Given the description of an element on the screen output the (x, y) to click on. 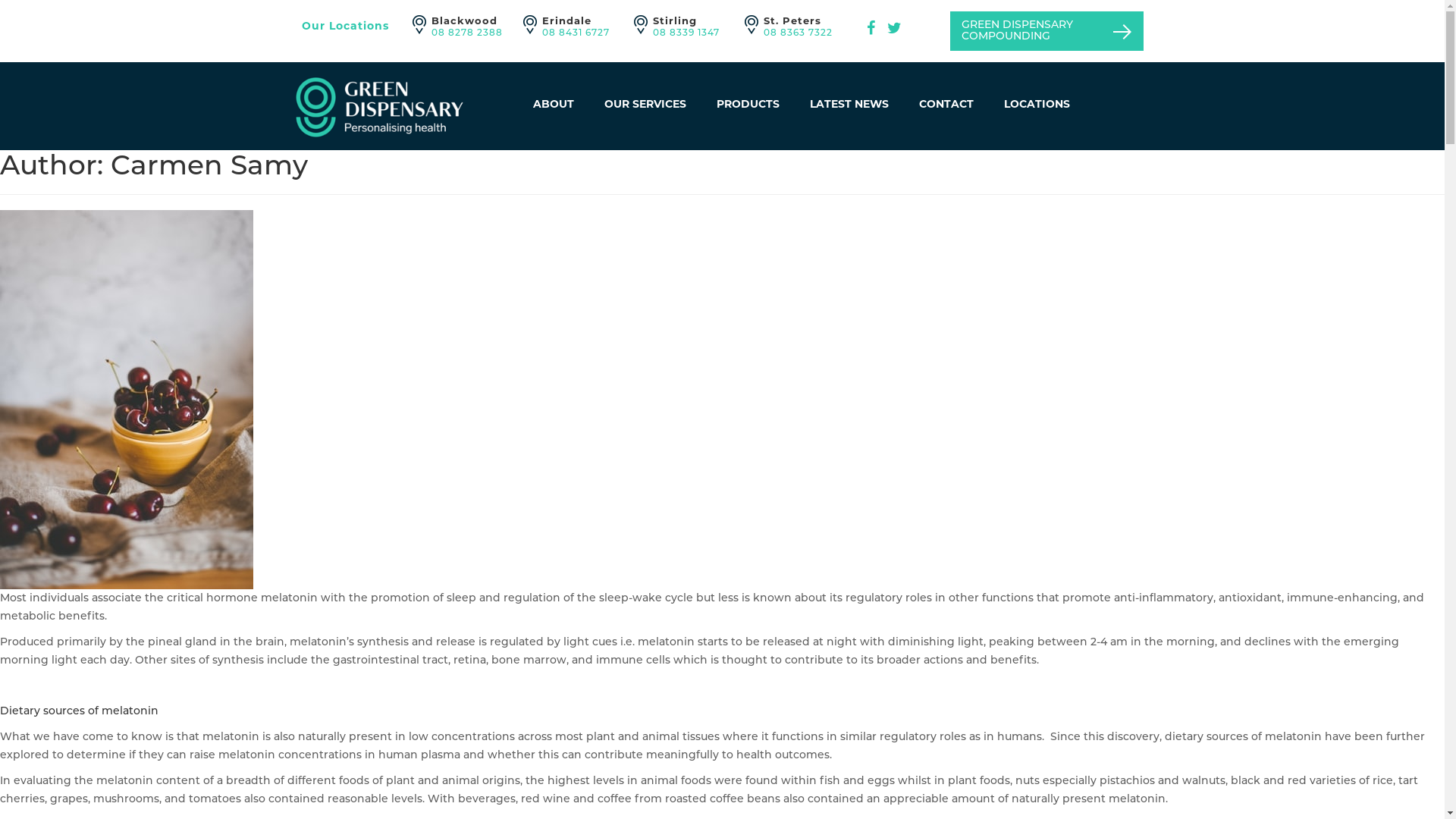
LOCATIONS Element type: text (1037, 103)
GREEN DISPENSARY
COMPOUNDING Element type: text (1045, 30)
OUR SERVICES Element type: text (644, 103)
ABOUT Element type: text (552, 103)
PRODUCTS Element type: text (746, 103)
LATEST NEWS Element type: text (848, 103)
CONTACT Element type: text (946, 103)
